Given the description of an element on the screen output the (x, y) to click on. 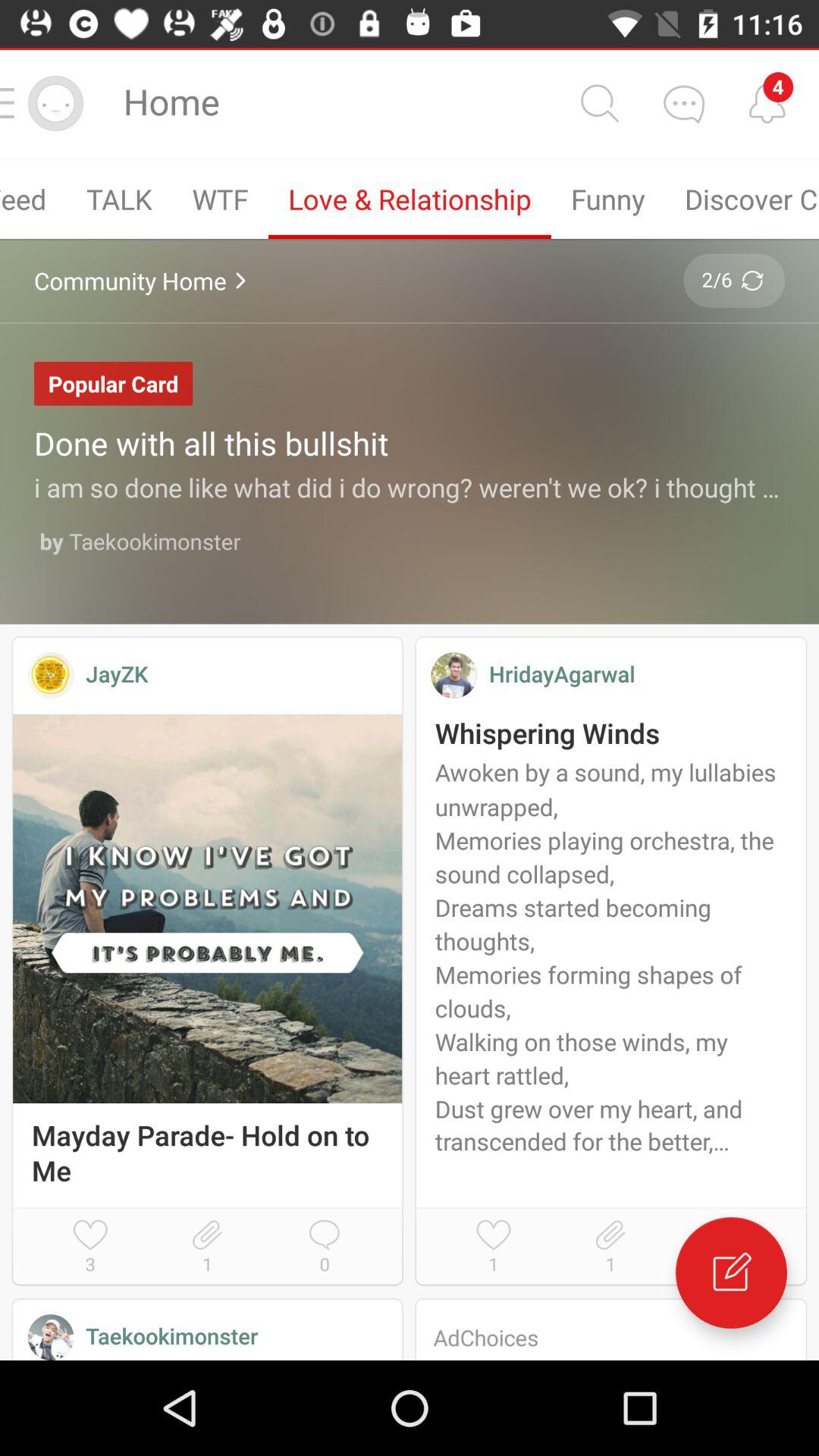
tap for notification (766, 103)
